Given the description of an element on the screen output the (x, y) to click on. 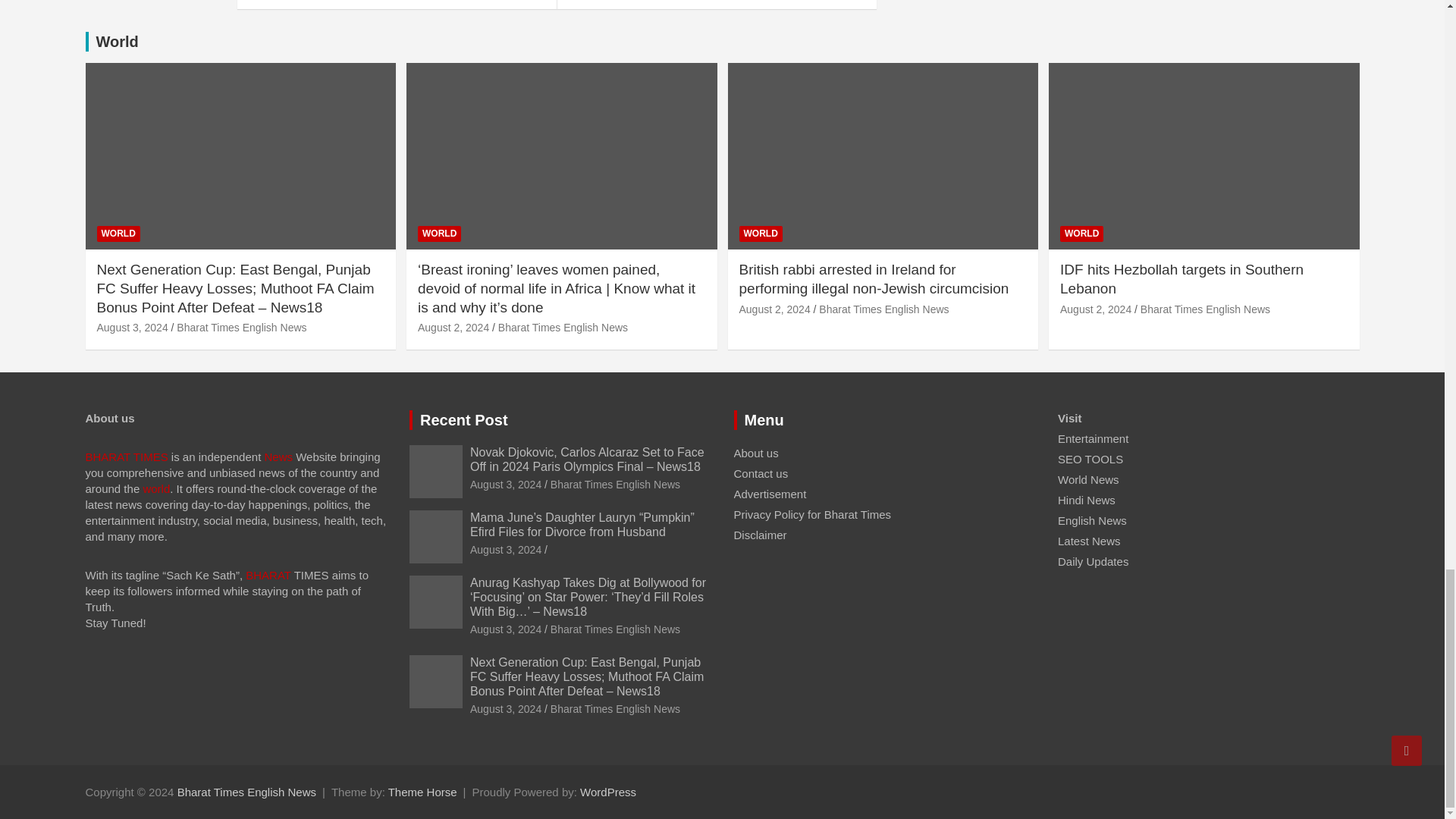
Bharat Times English News (246, 791)
IDF hits Hezbollah targets in Southern Lebanon (1095, 309)
